Given the description of an element on the screen output the (x, y) to click on. 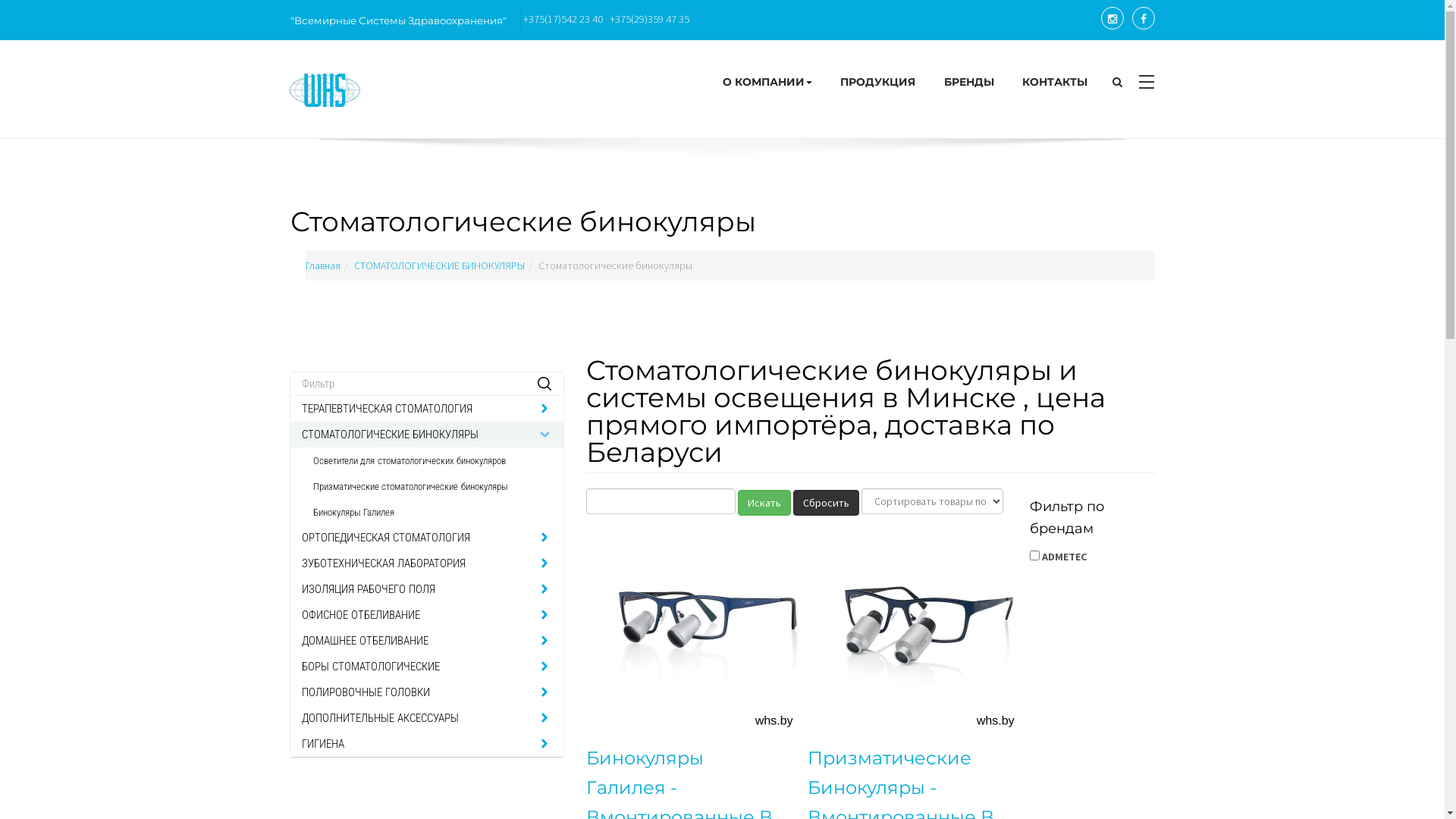
+375(17)542 23 40 Element type: text (562, 18)
+375(29)359 47 35 Element type: text (649, 18)
